Given the description of an element on the screen output the (x, y) to click on. 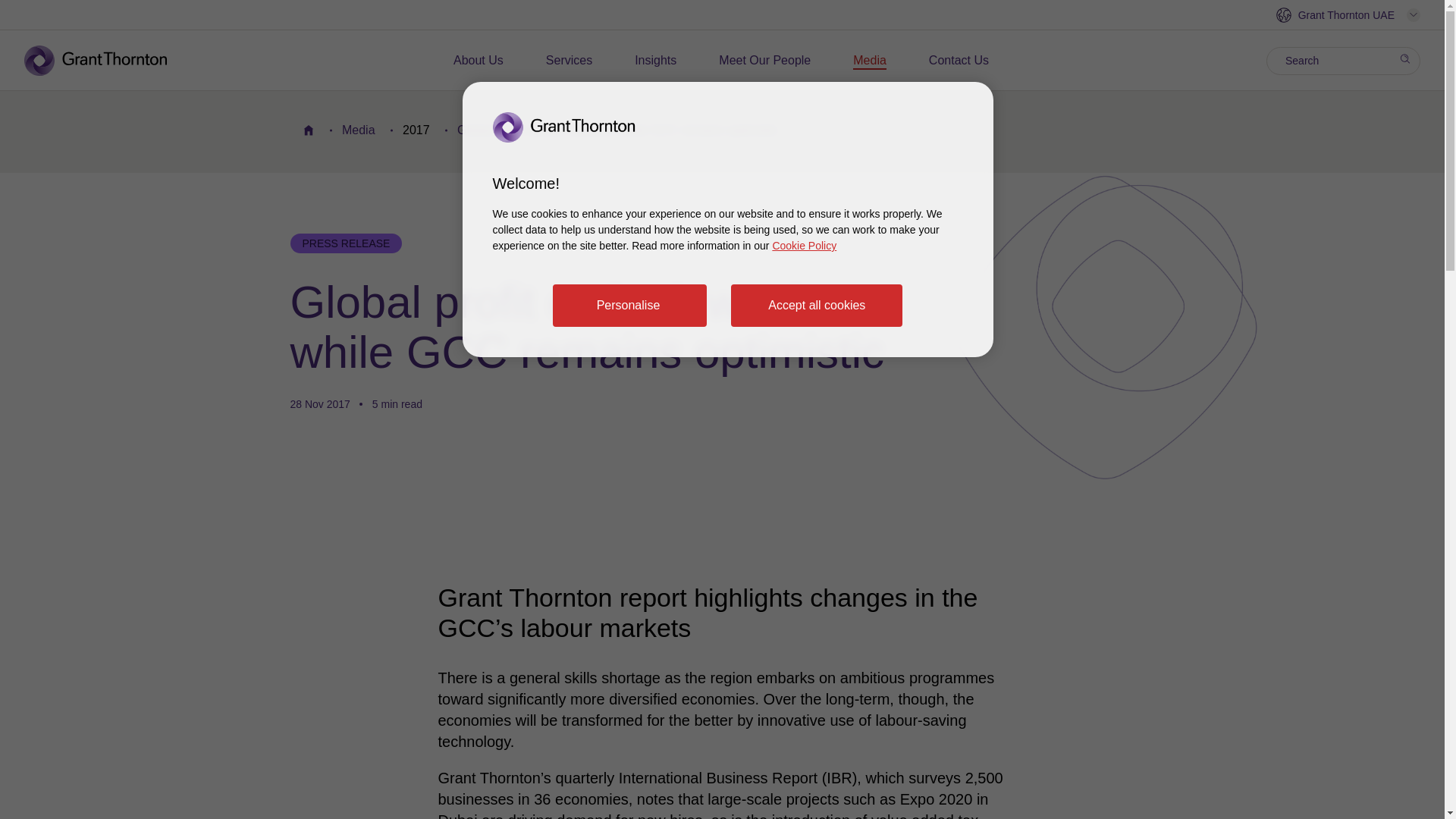
Media (869, 60)
Grant Thornton UAE (1348, 14)
Explore the Grant Thornton network (1348, 14)
logo (105, 60)
Insights (655, 60)
Meet Our People (764, 60)
Contact Us (958, 60)
Services (569, 60)
About Us (477, 60)
